Given the description of an element on the screen output the (x, y) to click on. 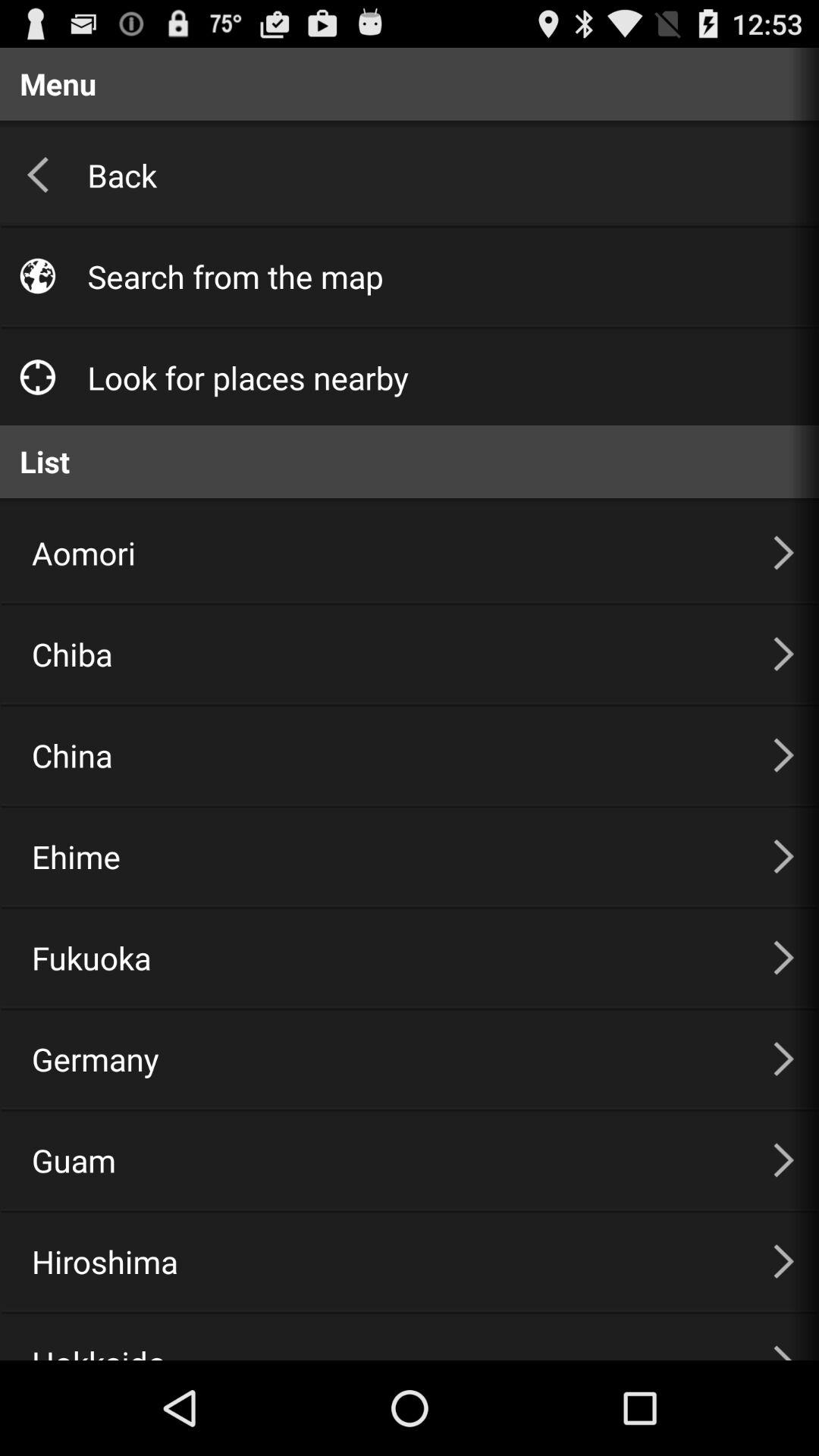
swipe until the back (437, 174)
